Given the description of an element on the screen output the (x, y) to click on. 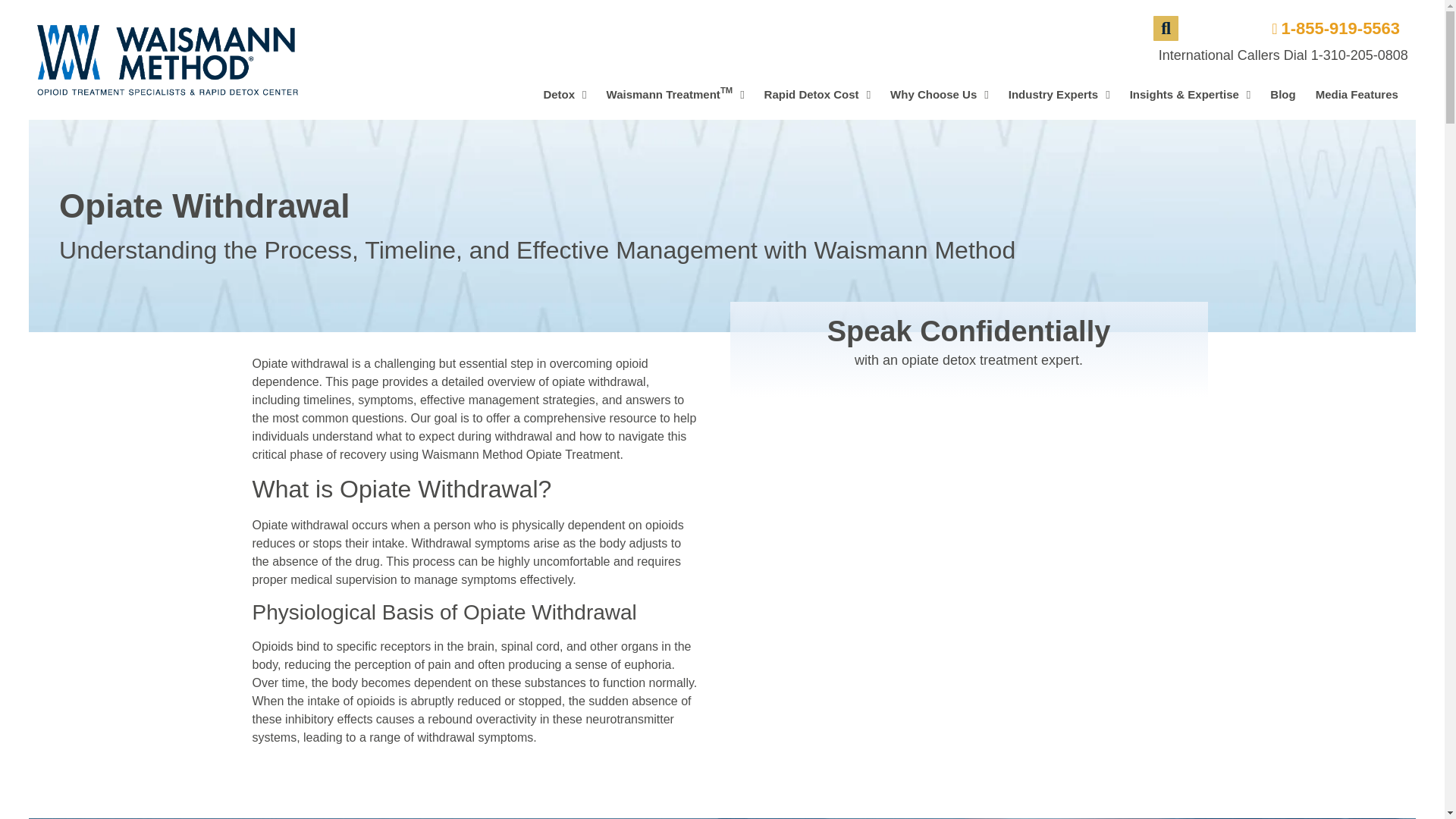
Why Choose Us (939, 94)
Detox (563, 94)
1-855-919-5563 (675, 94)
1-310-205-0808 (1329, 27)
Rapid Detox Cost (1359, 55)
